Given the description of an element on the screen output the (x, y) to click on. 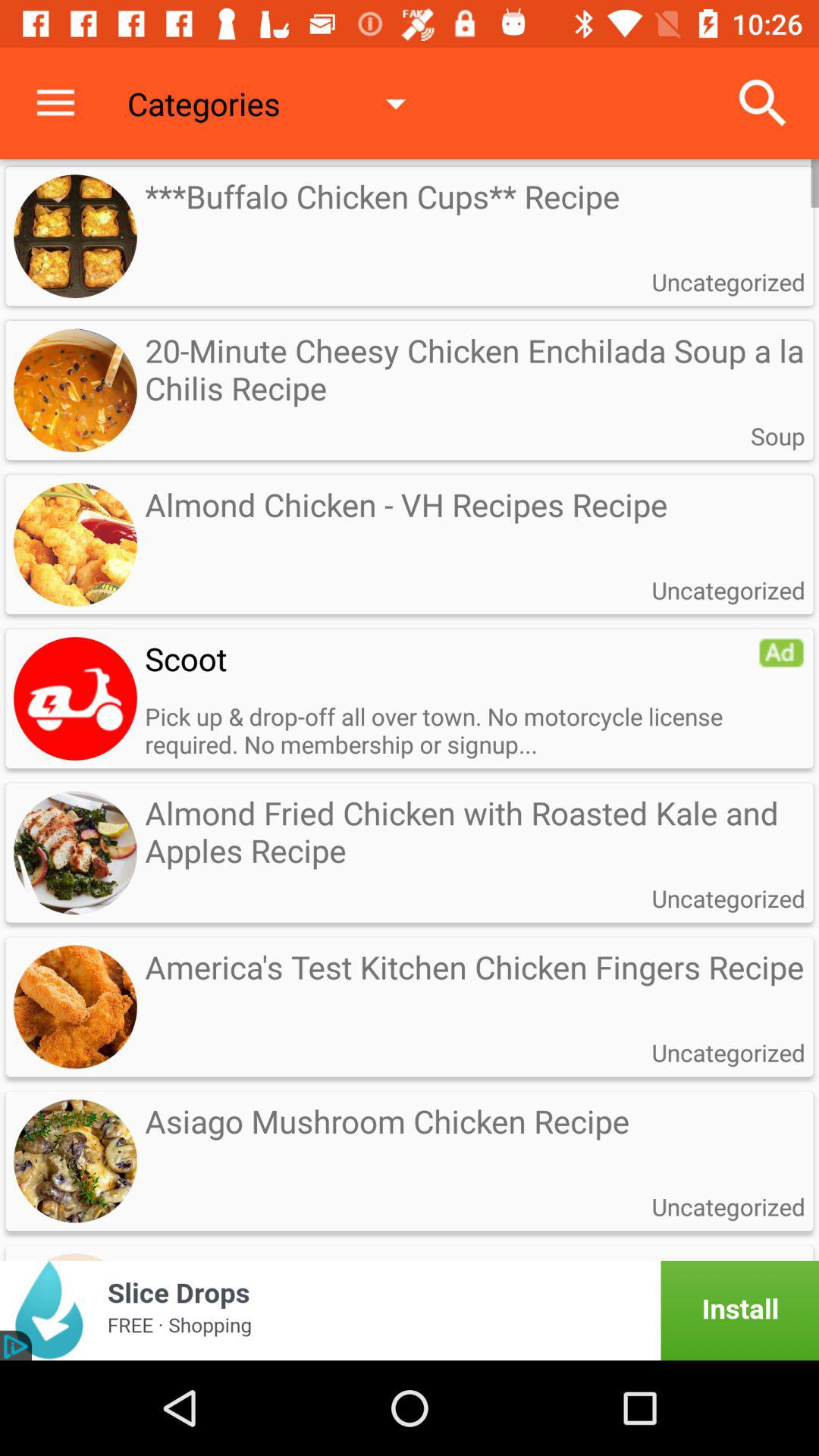
click on advertisements (409, 1310)
